Given the description of an element on the screen output the (x, y) to click on. 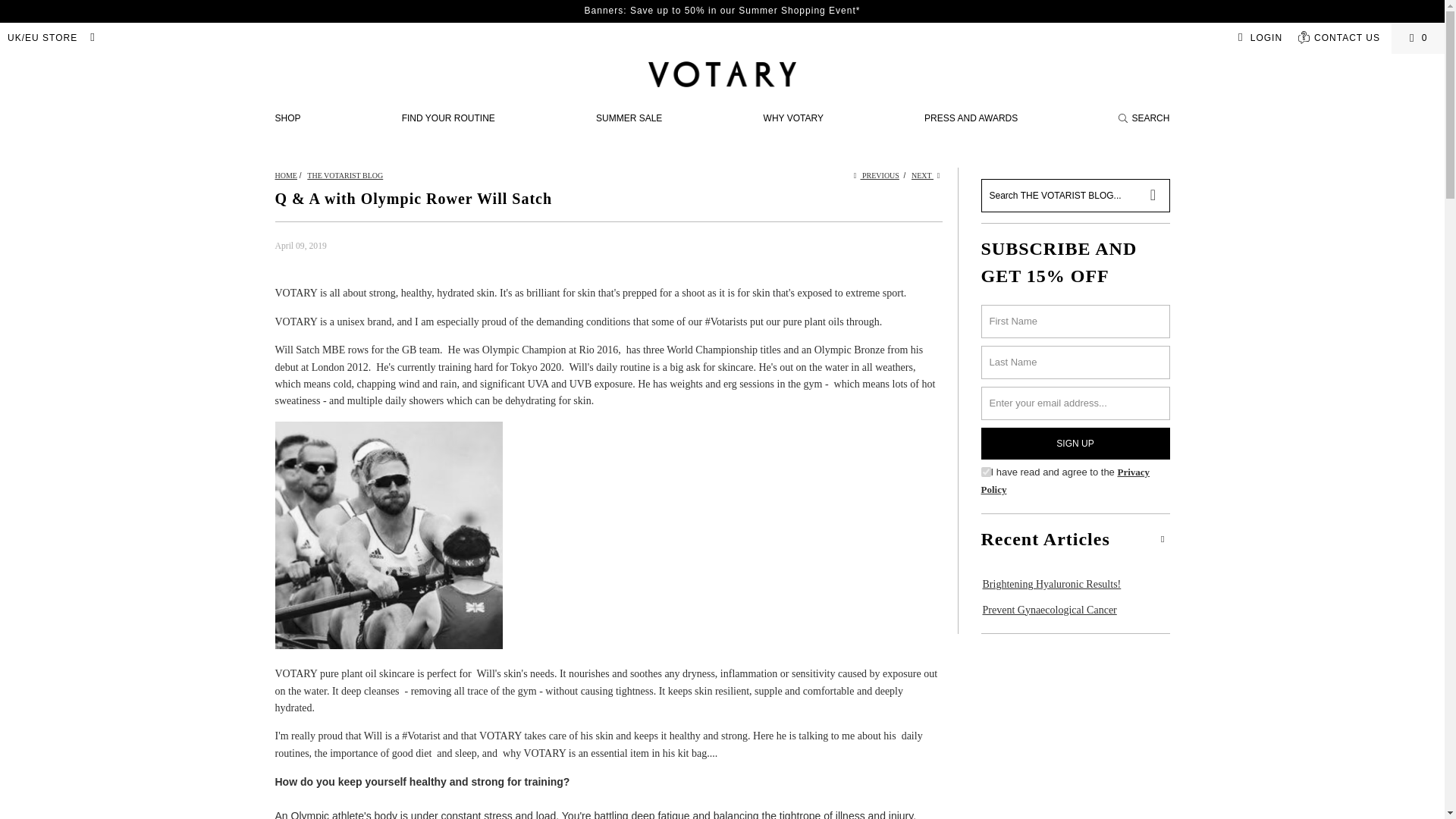
Sign Up (1075, 443)
VOTARY (286, 175)
true (986, 471)
VOTARY (721, 75)
Prevent Gynaecological Cancer (1048, 610)
THE VOTARIST BLOG (344, 175)
Summer Shopping Event (722, 9)
CONTACT US (1338, 37)
Brightening Hyaluronic Results! (1051, 584)
My Account  (1257, 37)
